Given the description of an element on the screen output the (x, y) to click on. 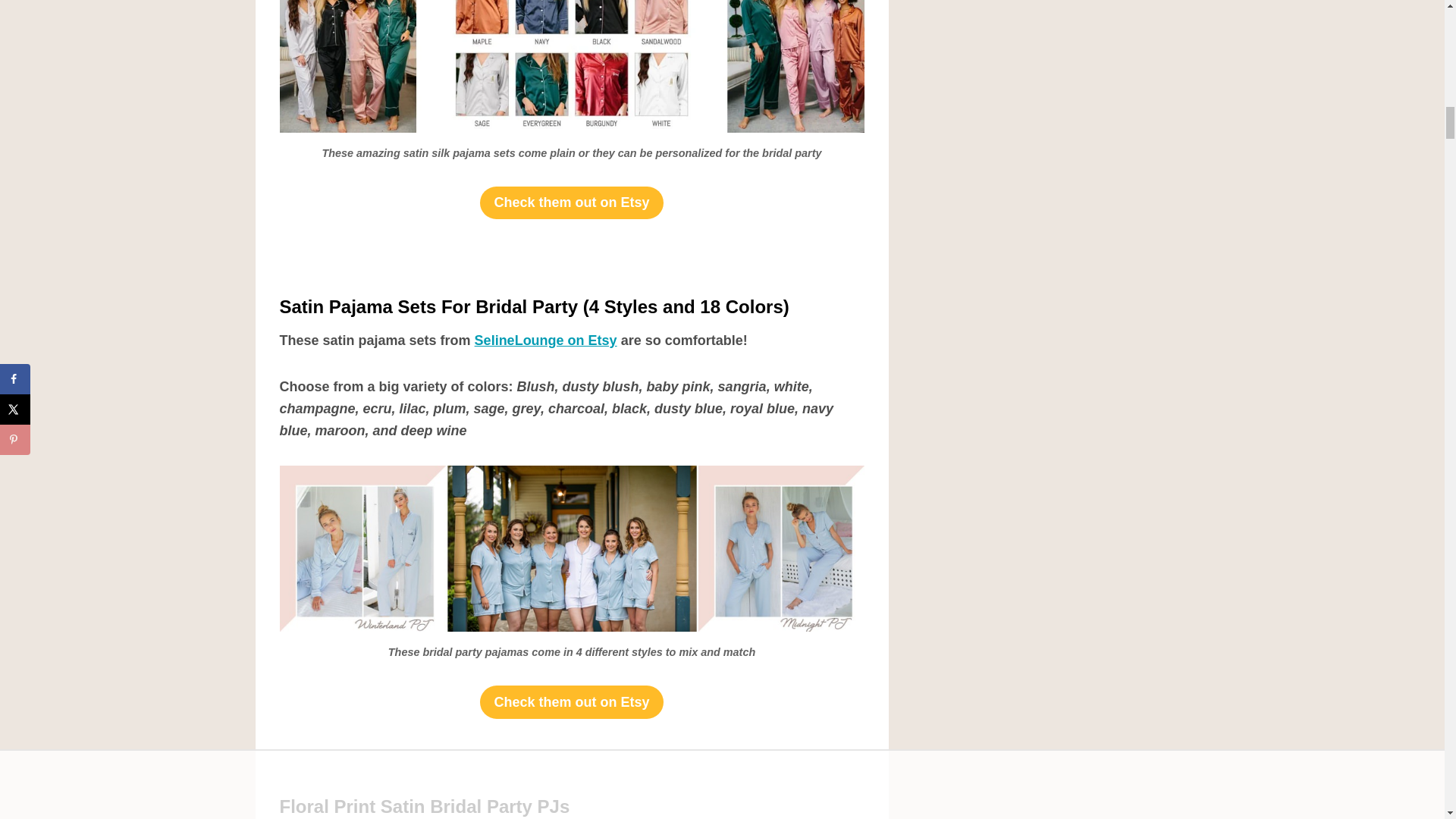
SelineLounge on Etsy (545, 340)
Check them out on Etsy (571, 202)
Check them out on Etsy (571, 701)
